Given the description of an element on the screen output the (x, y) to click on. 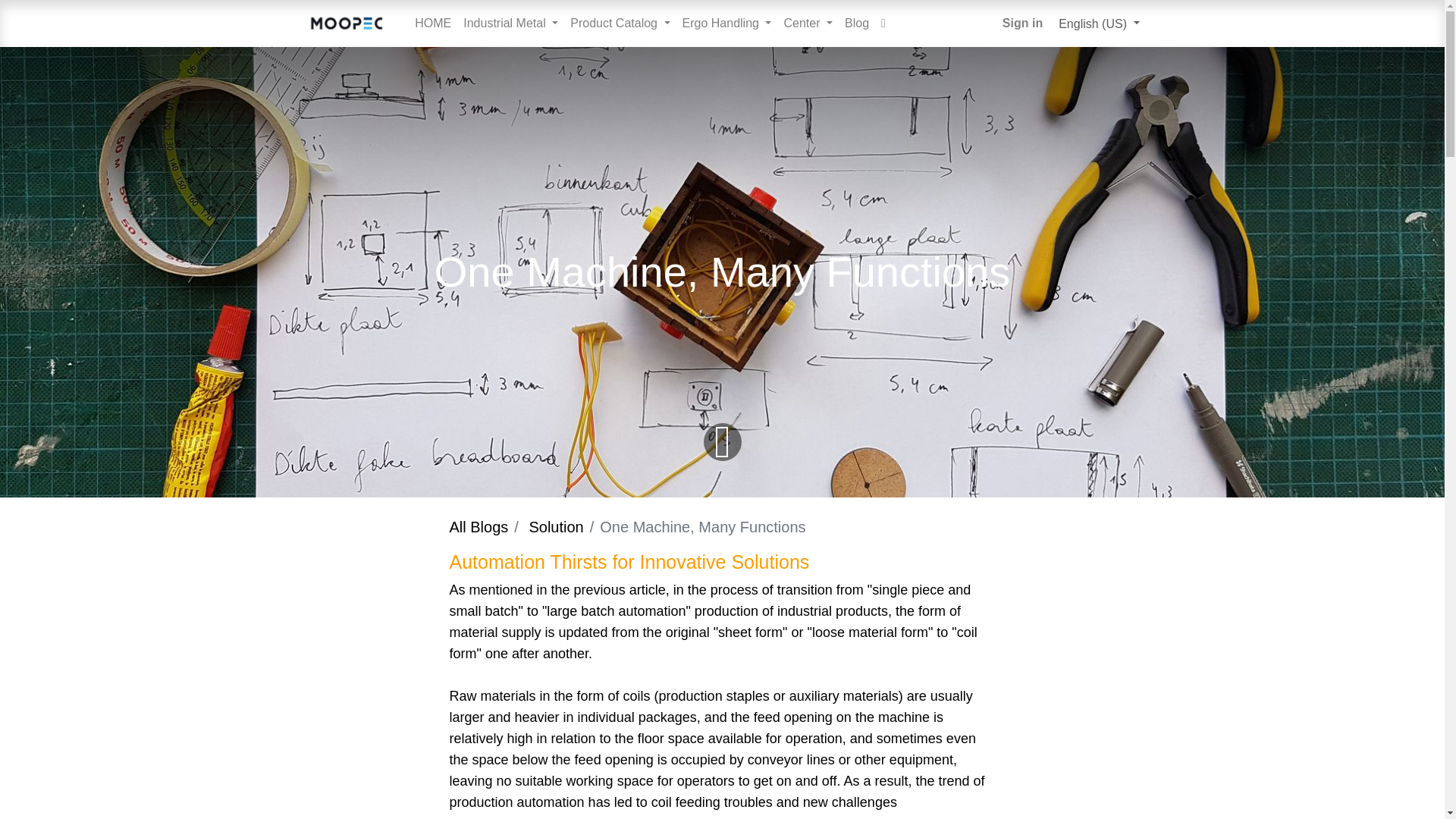
HOME (433, 23)
Industrial Metal (510, 23)
To blog content (721, 440)
Sign in (1021, 23)
MOOPEC (346, 22)
Ergo Handling (727, 23)
Blog (856, 23)
Center (807, 23)
Product Catalog (619, 23)
